Given the description of an element on the screen output the (x, y) to click on. 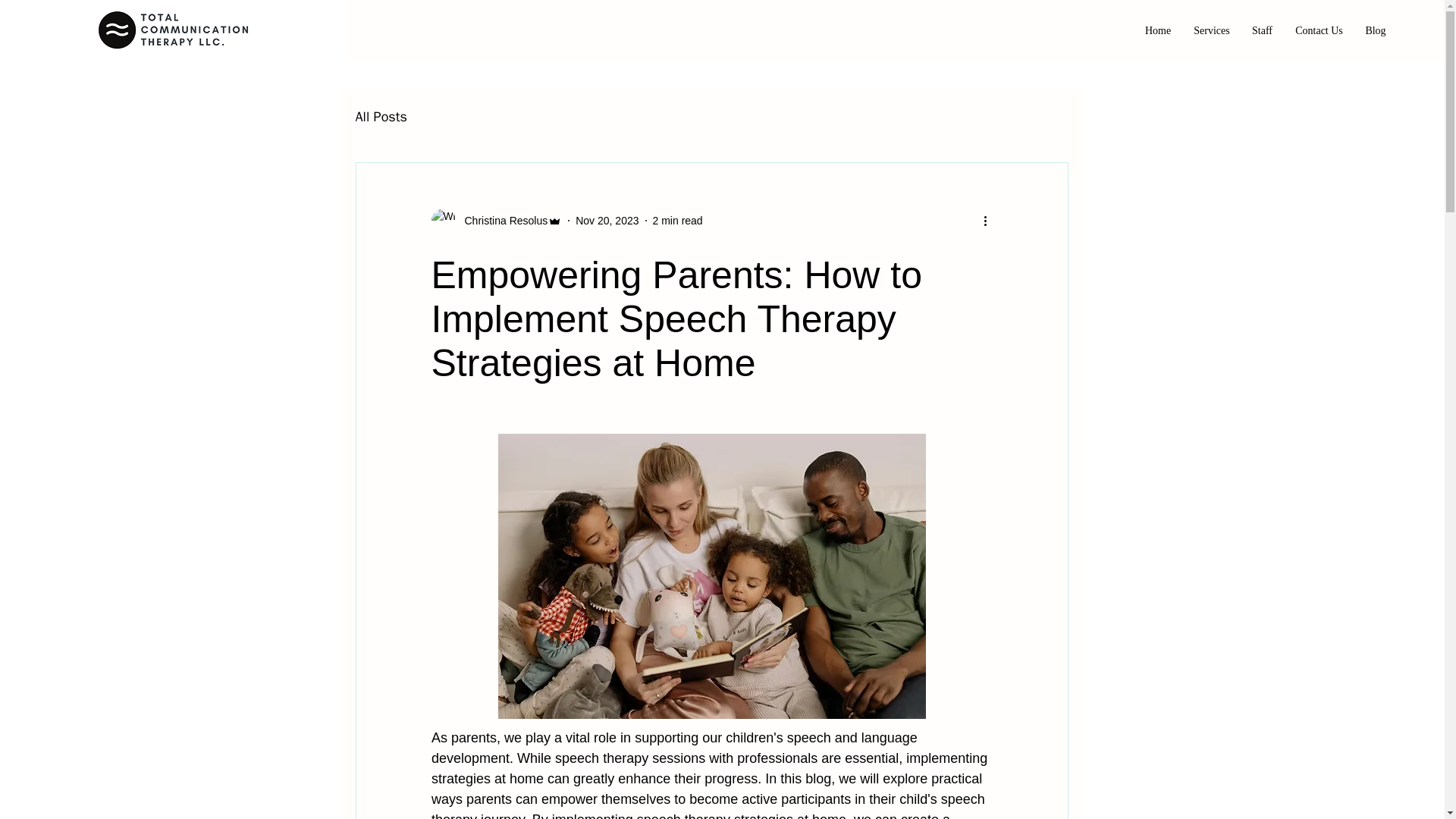
Christina Resolus (496, 220)
Christina Resolus  (500, 220)
Nov 20, 2023 (607, 219)
Blog (1375, 30)
Total Communication Speech Therapy-Logo (173, 31)
Staff (1261, 30)
2 min read (677, 219)
Services (1211, 30)
Contact Us (1318, 30)
Home (1158, 30)
